Given the description of an element on the screen output the (x, y) to click on. 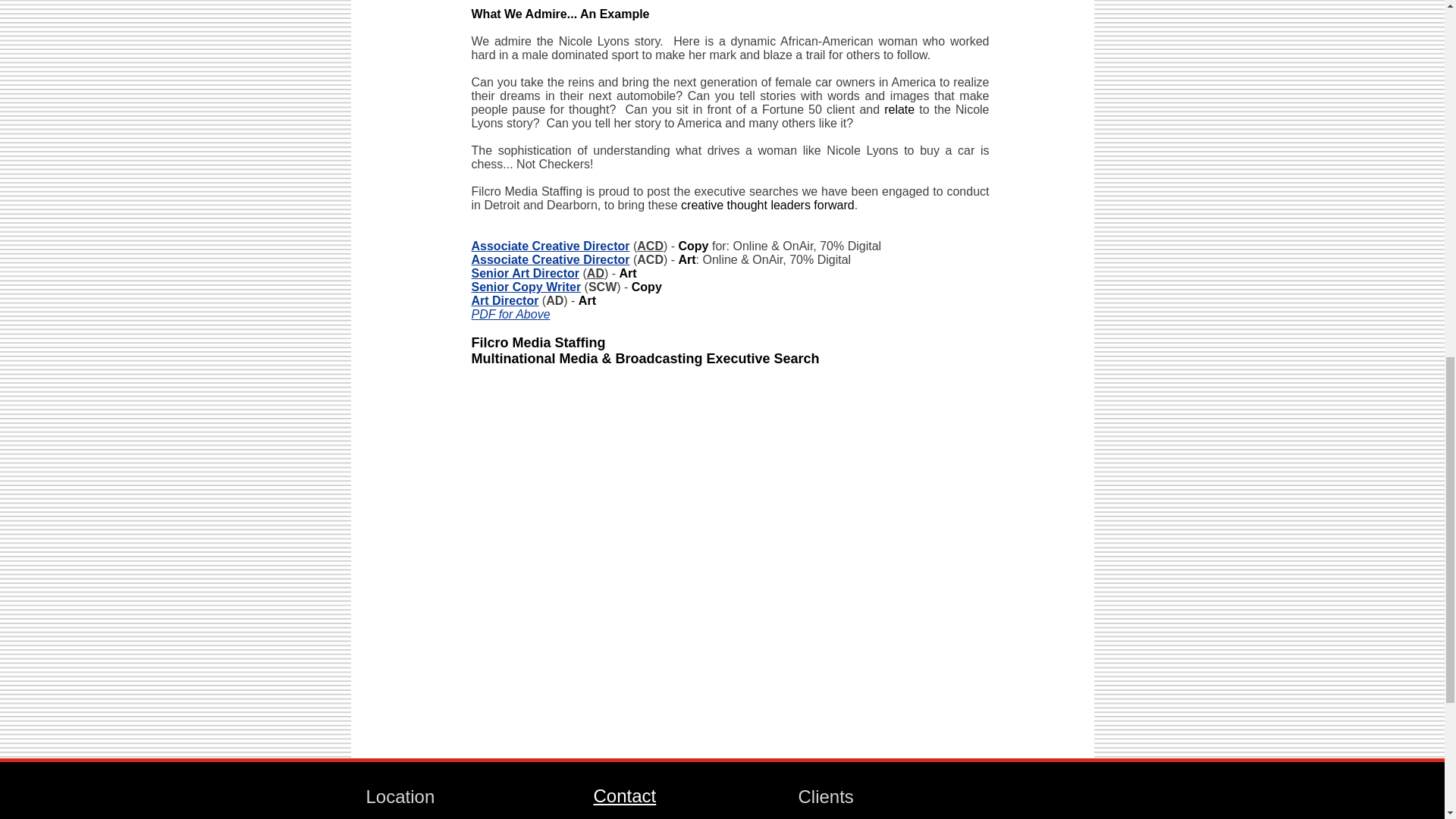
PDF for Above (510, 314)
Senior Copy Writer (525, 286)
Associate Creative Director (550, 259)
Associate Creative Director (550, 245)
ACD (650, 245)
AD (595, 273)
Senior Art Director (525, 273)
Art Director (504, 300)
